Given the description of an element on the screen output the (x, y) to click on. 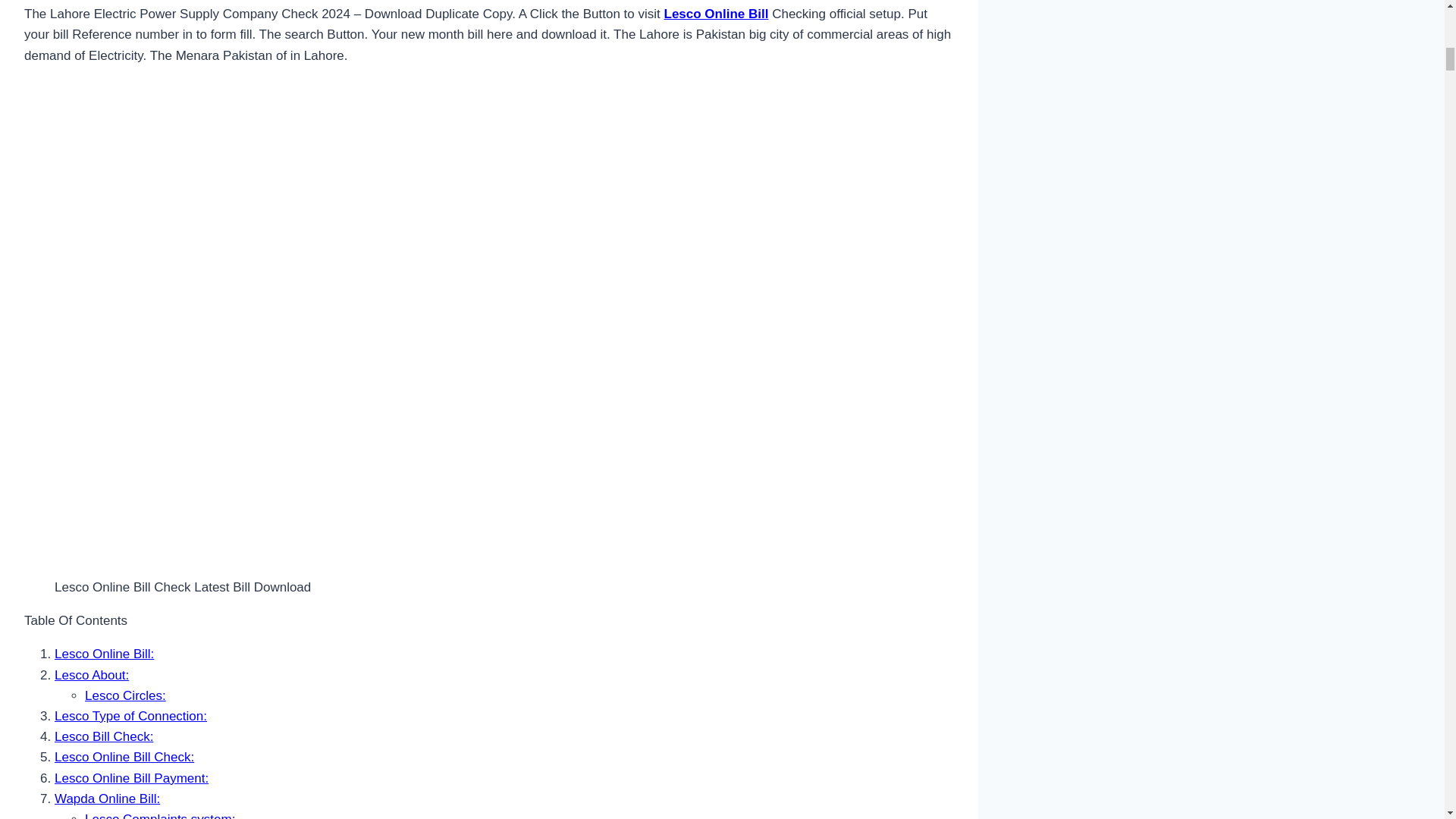
Lesco About: (92, 675)
Lesco Type of Connection: (130, 716)
Wapda Online Bill: (107, 798)
Lesco Bill Check: (103, 736)
Lesco Online Bill Payment: (131, 777)
Lesco Online Bill Check: (124, 757)
Lesco Online Bill: (104, 653)
Lesco Online Bill (715, 13)
Lesco Complaints system: (159, 815)
Lesco Circles: (124, 695)
